Given the description of an element on the screen output the (x, y) to click on. 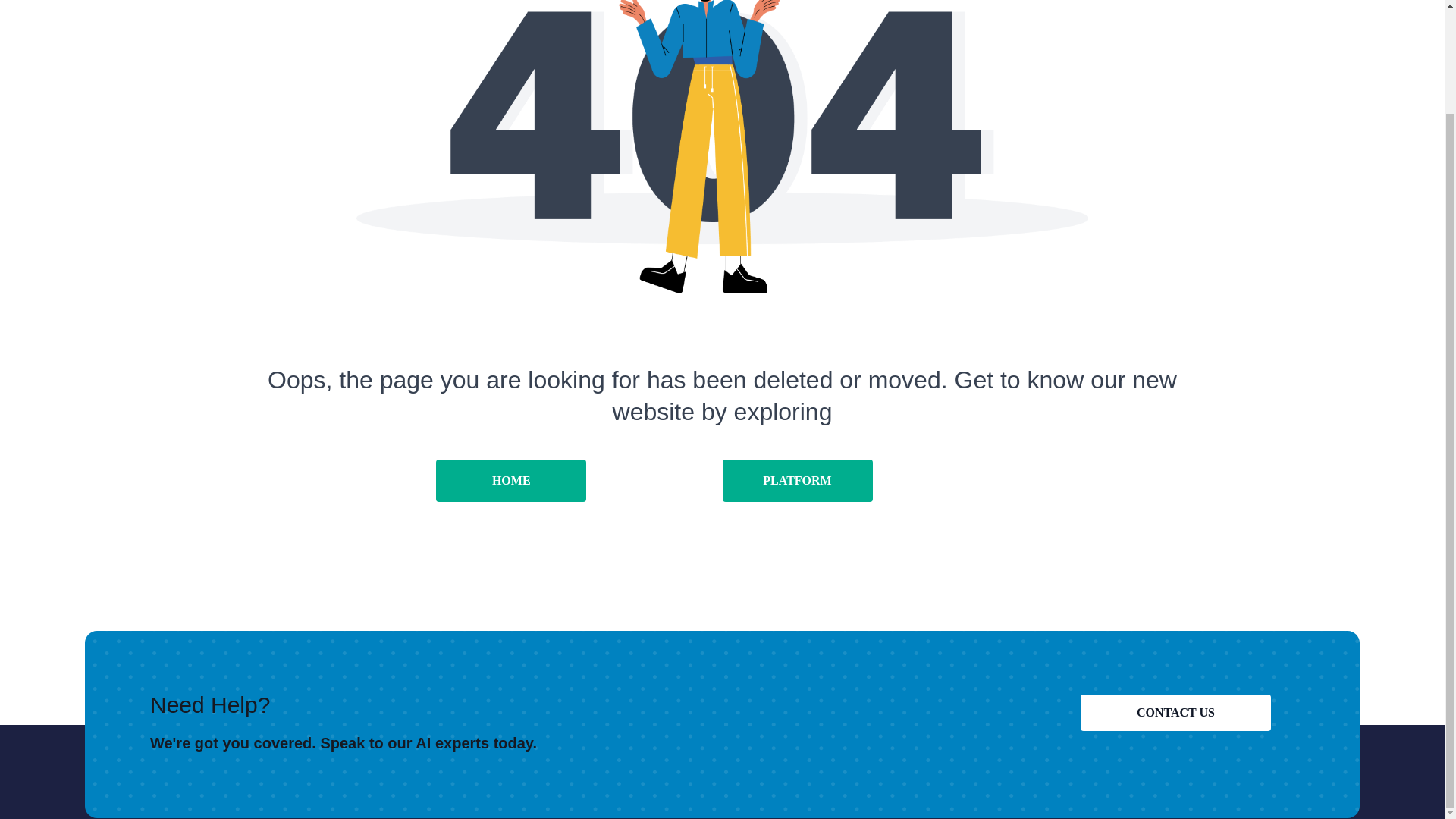
HOME (510, 480)
PLATFORM (797, 480)
CONTACT US (1175, 712)
